Given the description of an element on the screen output the (x, y) to click on. 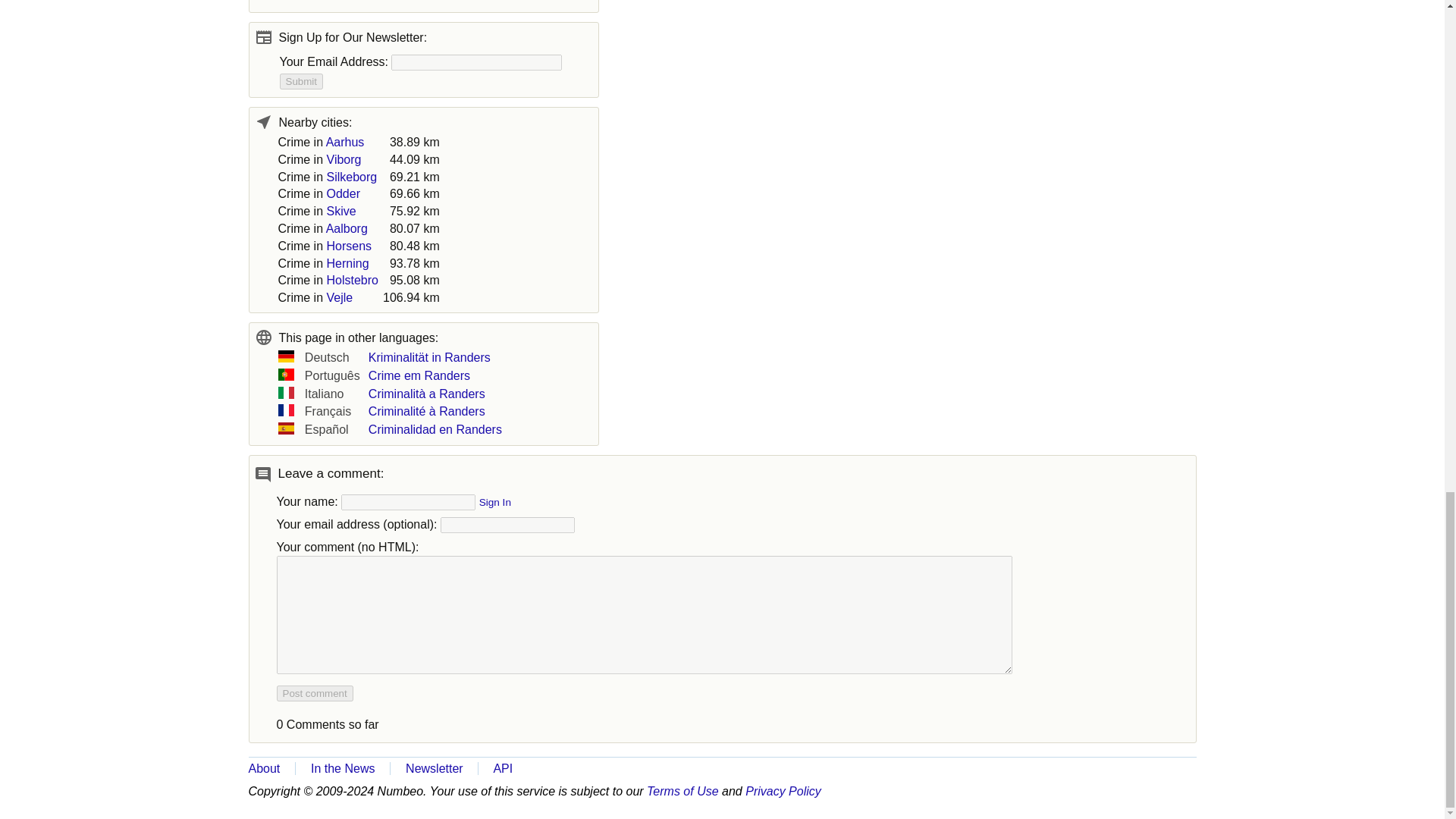
Post comment (314, 693)
Submit (300, 81)
